Given the description of an element on the screen output the (x, y) to click on. 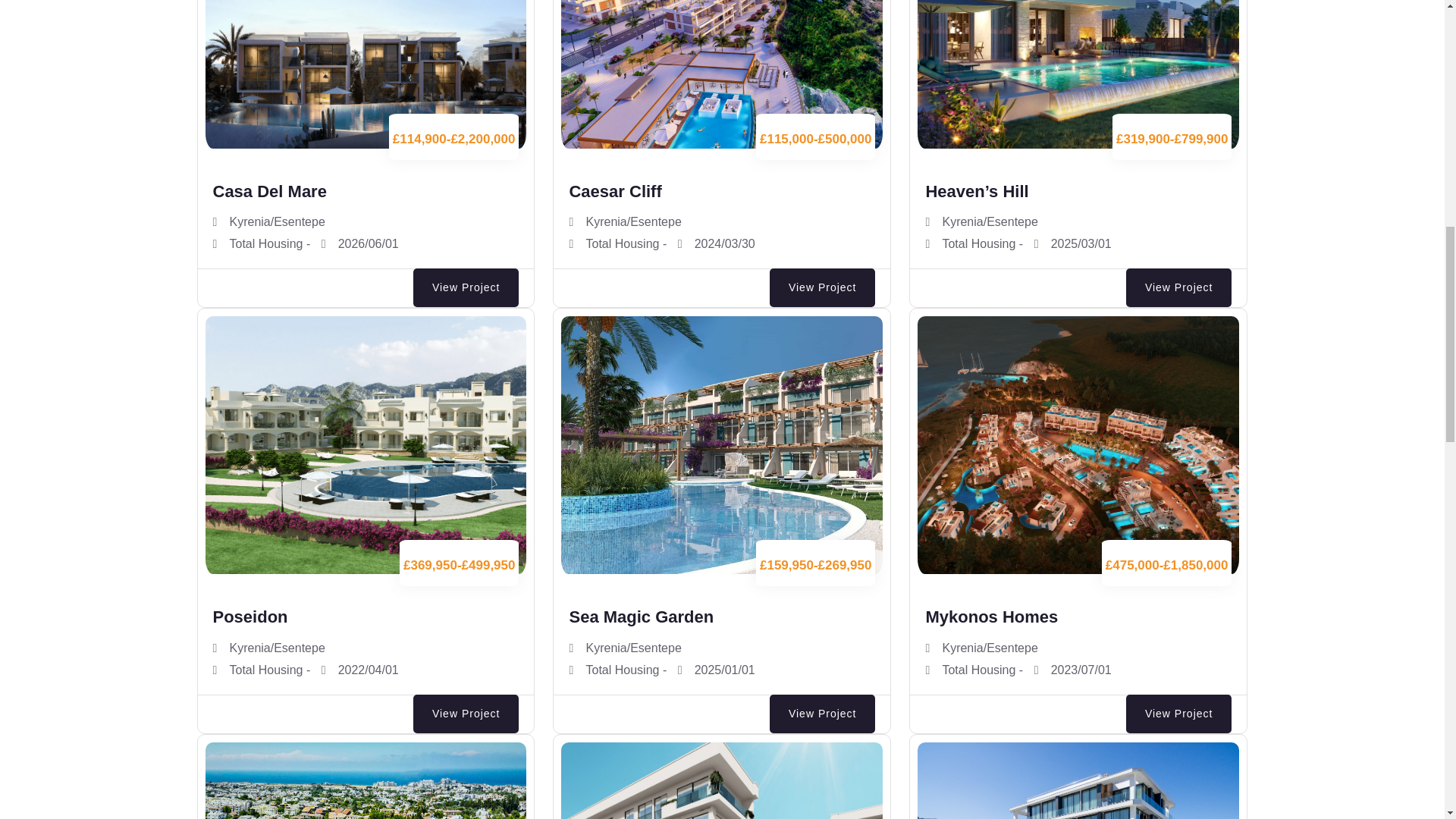
View Project (823, 713)
View Project (823, 287)
View Project (1178, 287)
View Project (466, 287)
Caesar Cliff (615, 191)
Poseidon (249, 617)
Sea Magic Garden (641, 617)
Casa Del Mare (269, 191)
Mykonos Homes (991, 617)
View Project (466, 713)
